Given the description of an element on the screen output the (x, y) to click on. 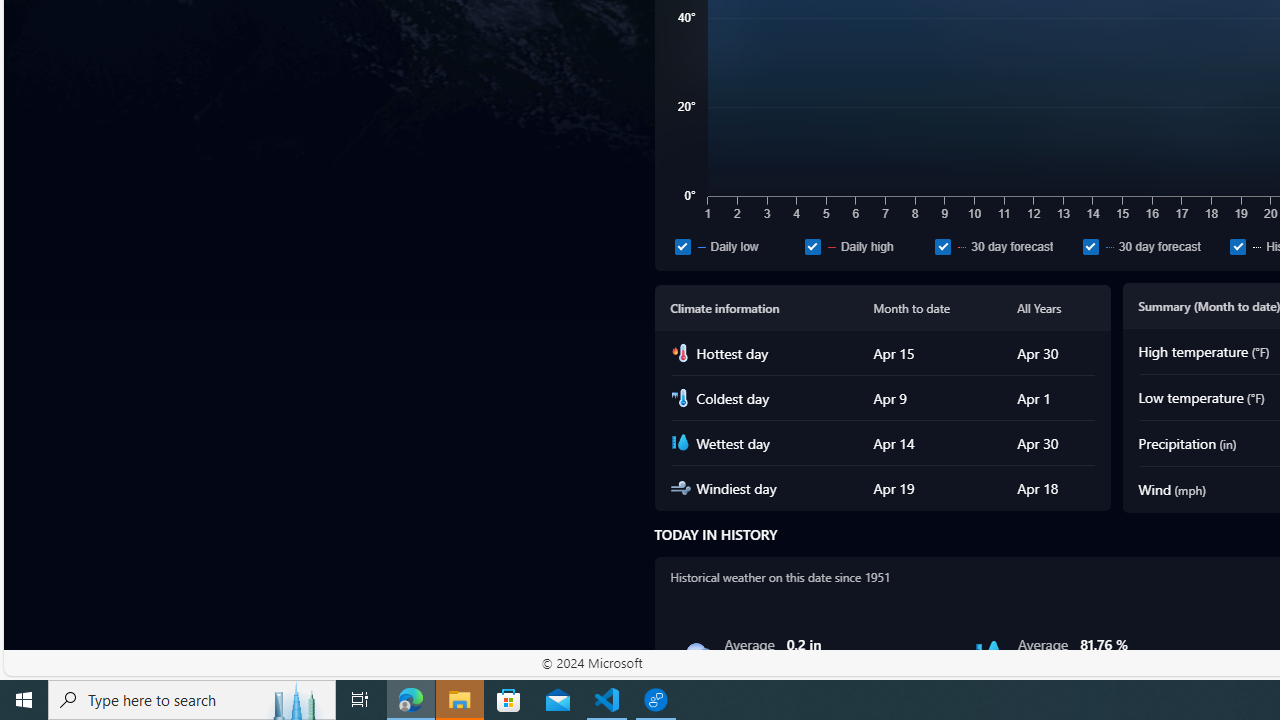
Daily low (682, 246)
Humidity (989, 654)
Historical daily temperature (1238, 246)
30 day forecast (1151, 246)
Daily high (865, 246)
Daily high (811, 246)
Rain (695, 654)
Daily low (735, 246)
30 day forecast (1090, 246)
